Given the description of an element on the screen output the (x, y) to click on. 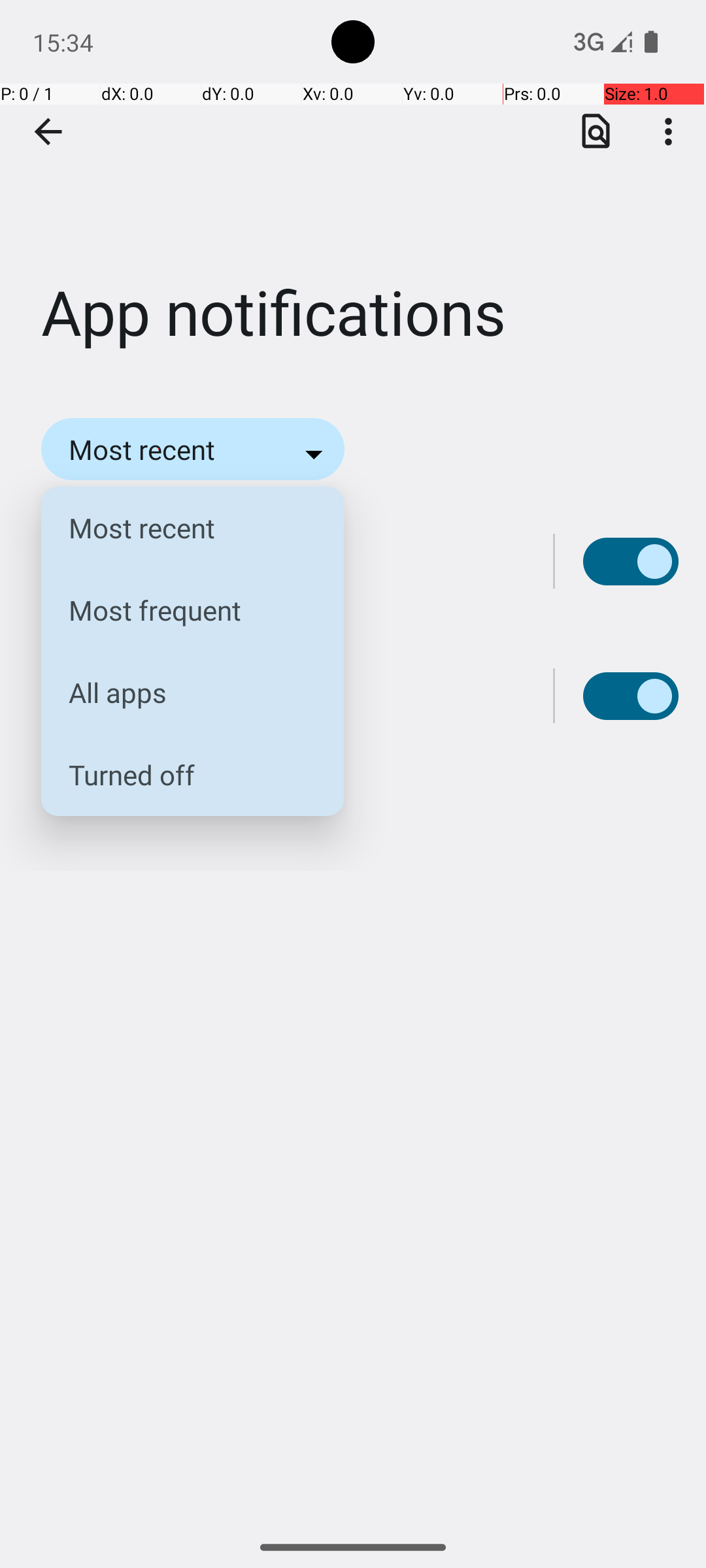
Most frequent Element type: android.widget.TextView (182, 610)
All apps Element type: android.widget.TextView (182, 692)
Turned off Element type: android.widget.TextView (182, 774)
